Given the description of an element on the screen output the (x, y) to click on. 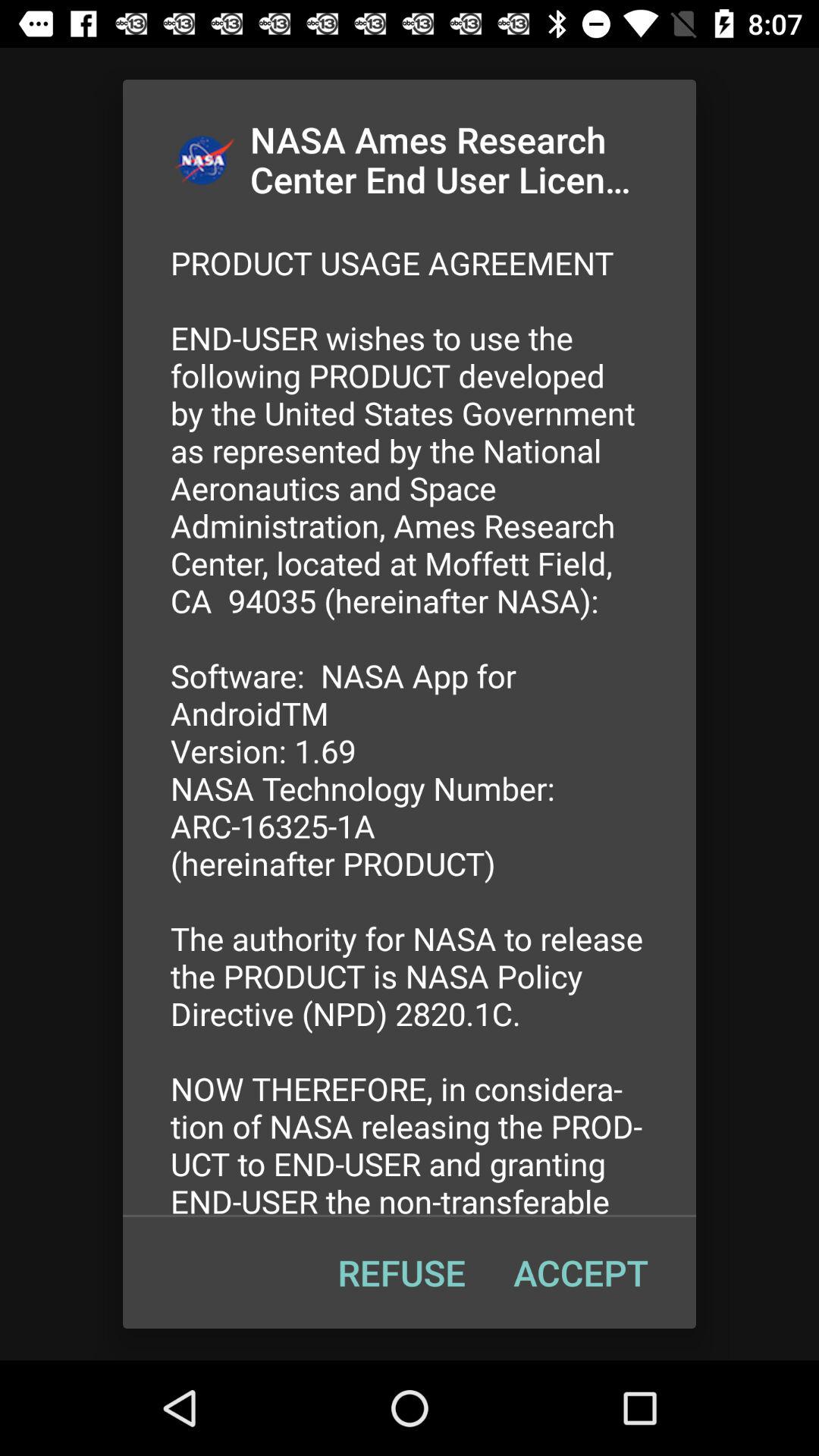
click the item to the left of accept icon (401, 1272)
